Given the description of an element on the screen output the (x, y) to click on. 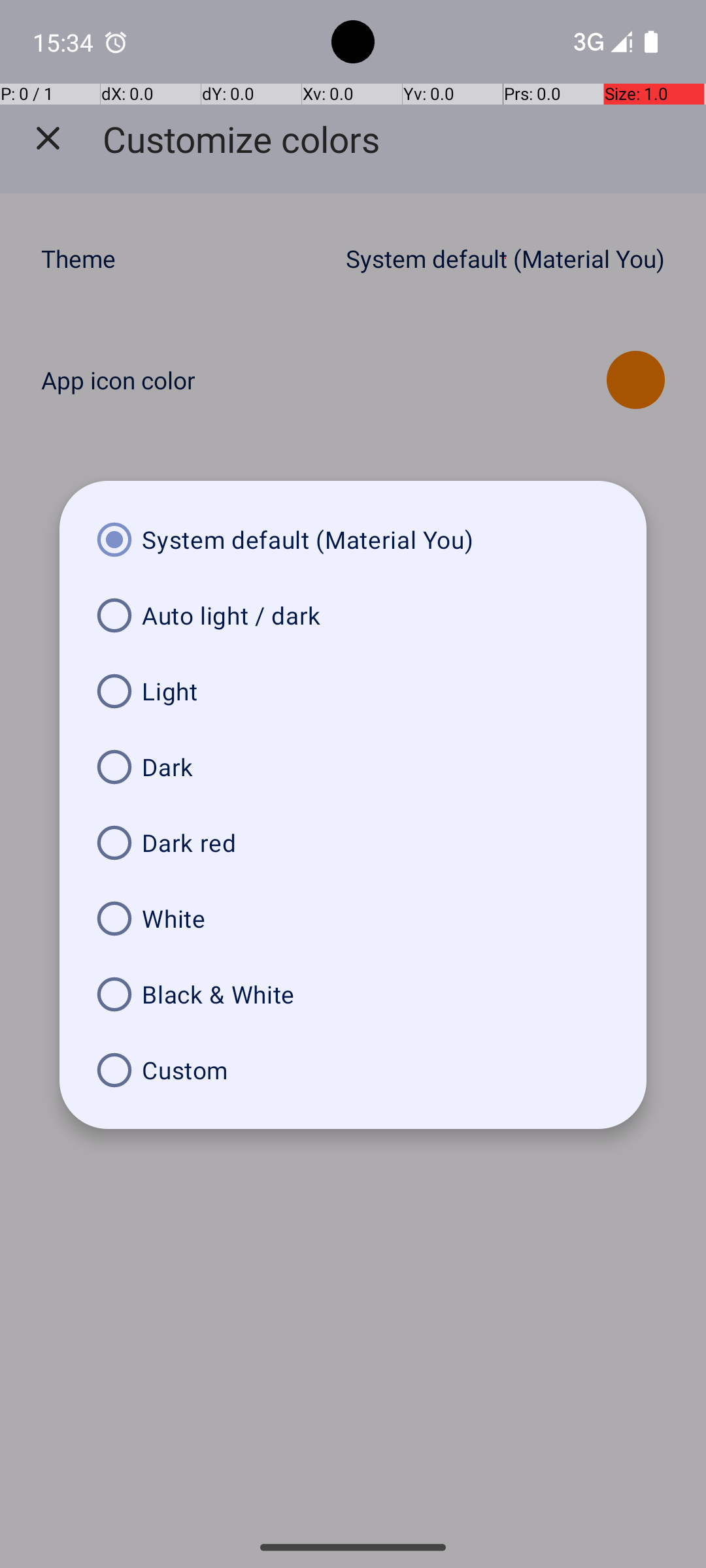
Auto light / dark Element type: android.widget.RadioButton (352, 615)
Light Element type: android.widget.RadioButton (352, 691)
Dark Element type: android.widget.RadioButton (352, 766)
Dark red Element type: android.widget.RadioButton (352, 842)
White Element type: android.widget.RadioButton (352, 918)
Black & White Element type: android.widget.RadioButton (352, 994)
